Given the description of an element on the screen output the (x, y) to click on. 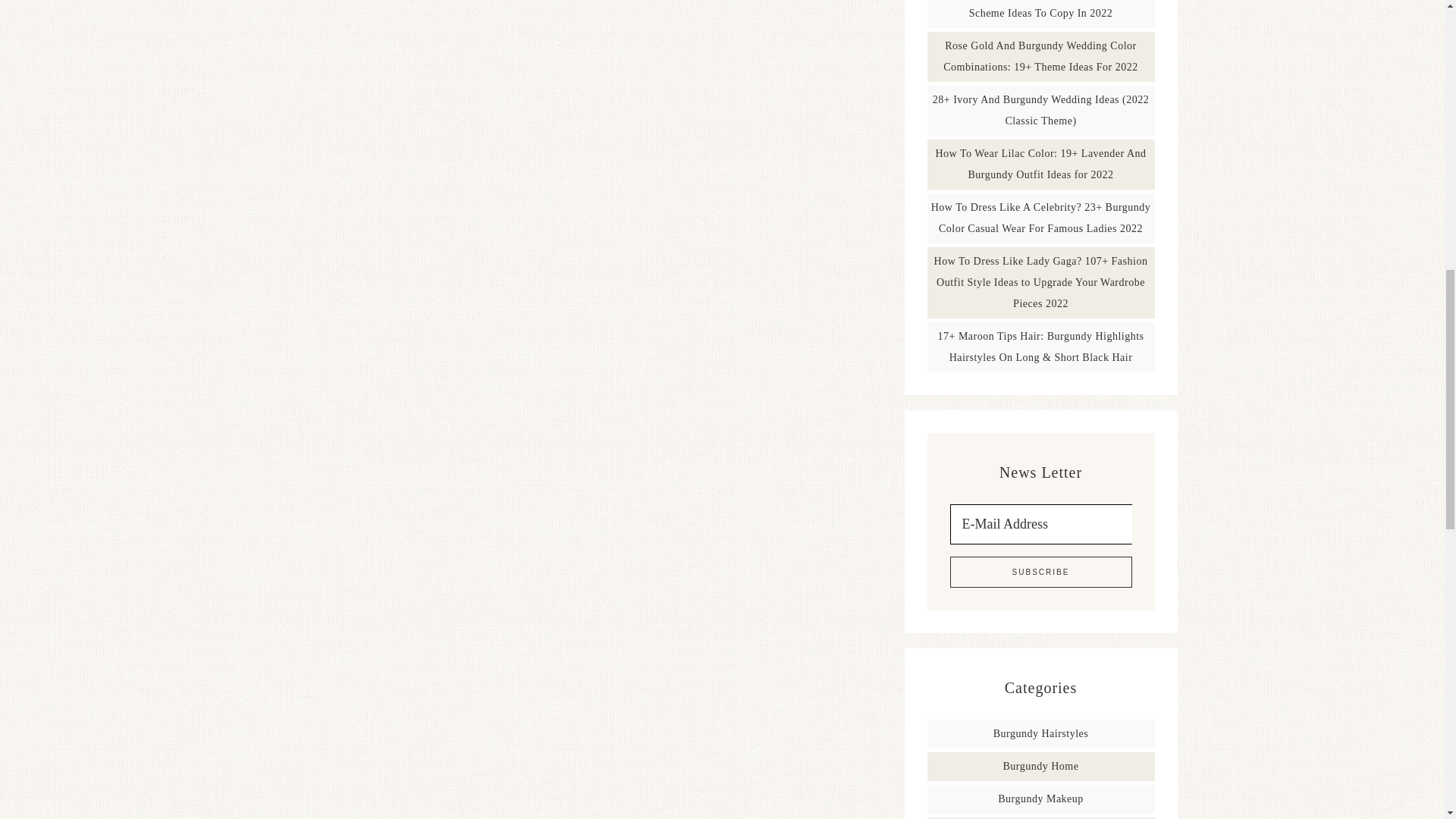
Subscribe (1040, 572)
Subscribe (1040, 572)
Burgundy Makeup (1040, 798)
Burgundy Hairstyles (1040, 733)
Burgundy Home (1040, 766)
